Given the description of an element on the screen output the (x, y) to click on. 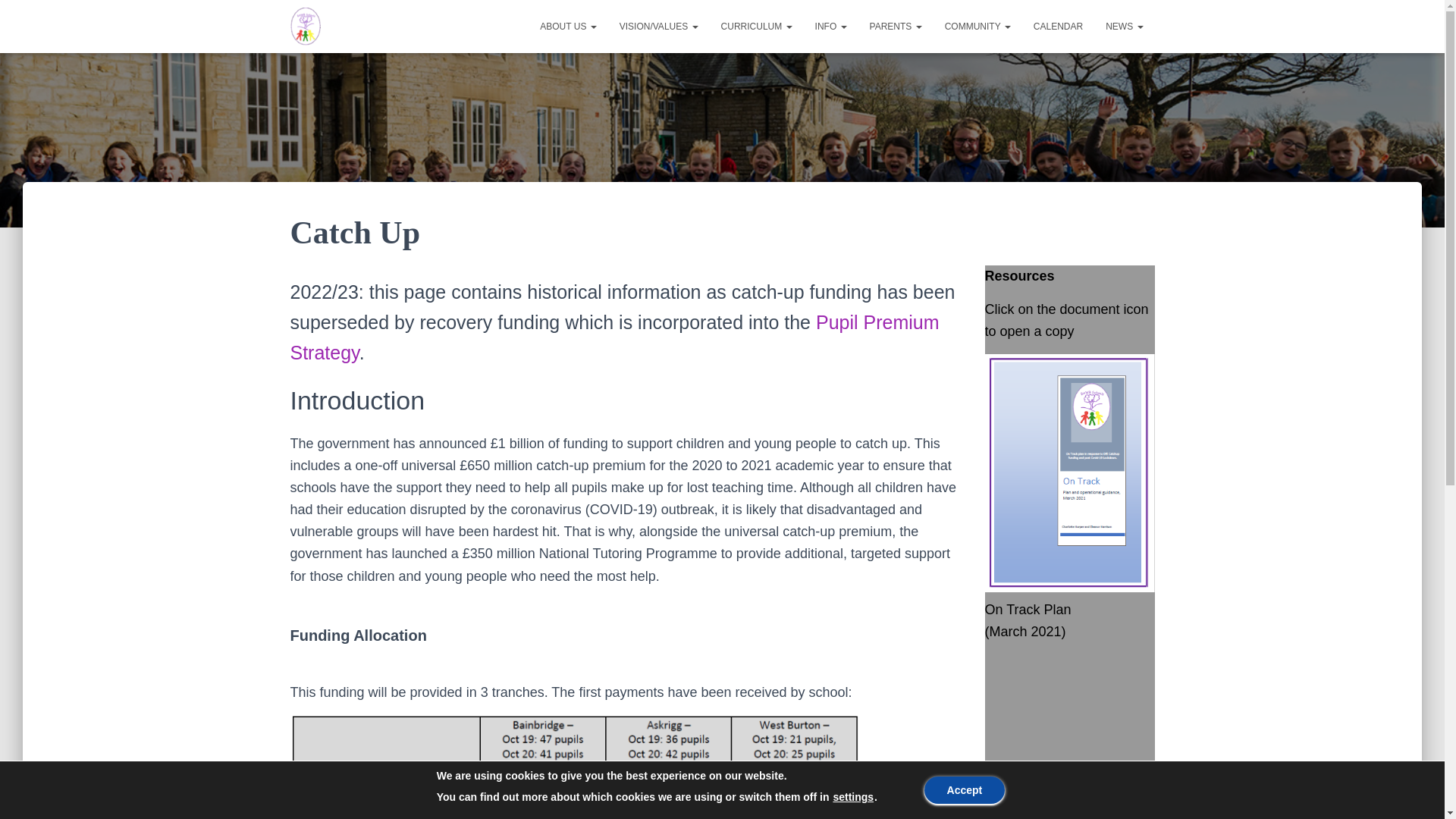
ABOUT US (567, 26)
CURRICULUM (756, 26)
About Us (567, 26)
BAWB Schools (306, 26)
